Given the description of an element on the screen output the (x, y) to click on. 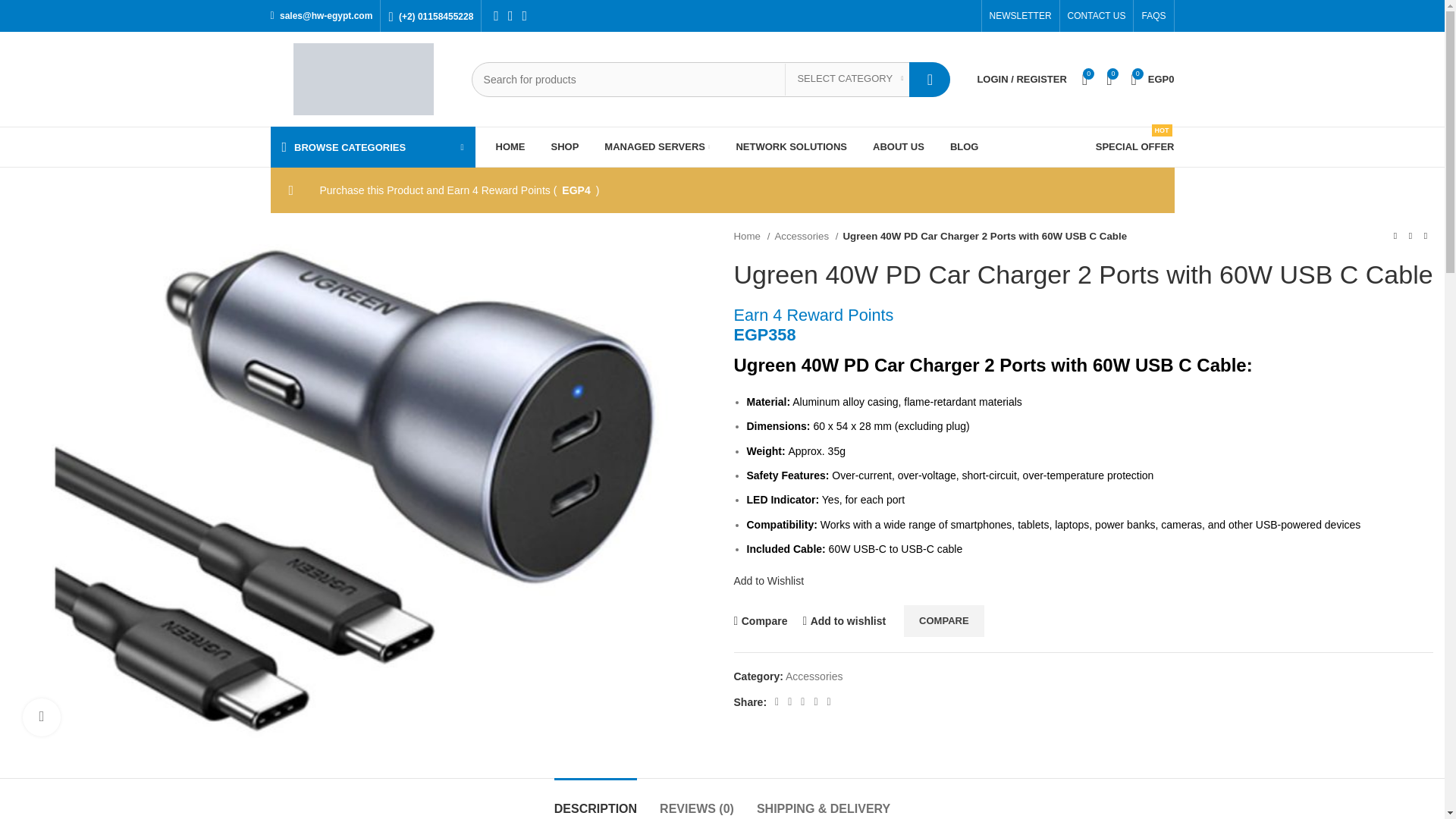
Shopping cart (1151, 78)
CONTACT US (1096, 15)
SELECT CATEGORY (849, 79)
Search for products (710, 79)
SELECT CATEGORY (849, 79)
NEWSLETTER (1020, 15)
My account (1021, 78)
